Given the description of an element on the screen output the (x, y) to click on. 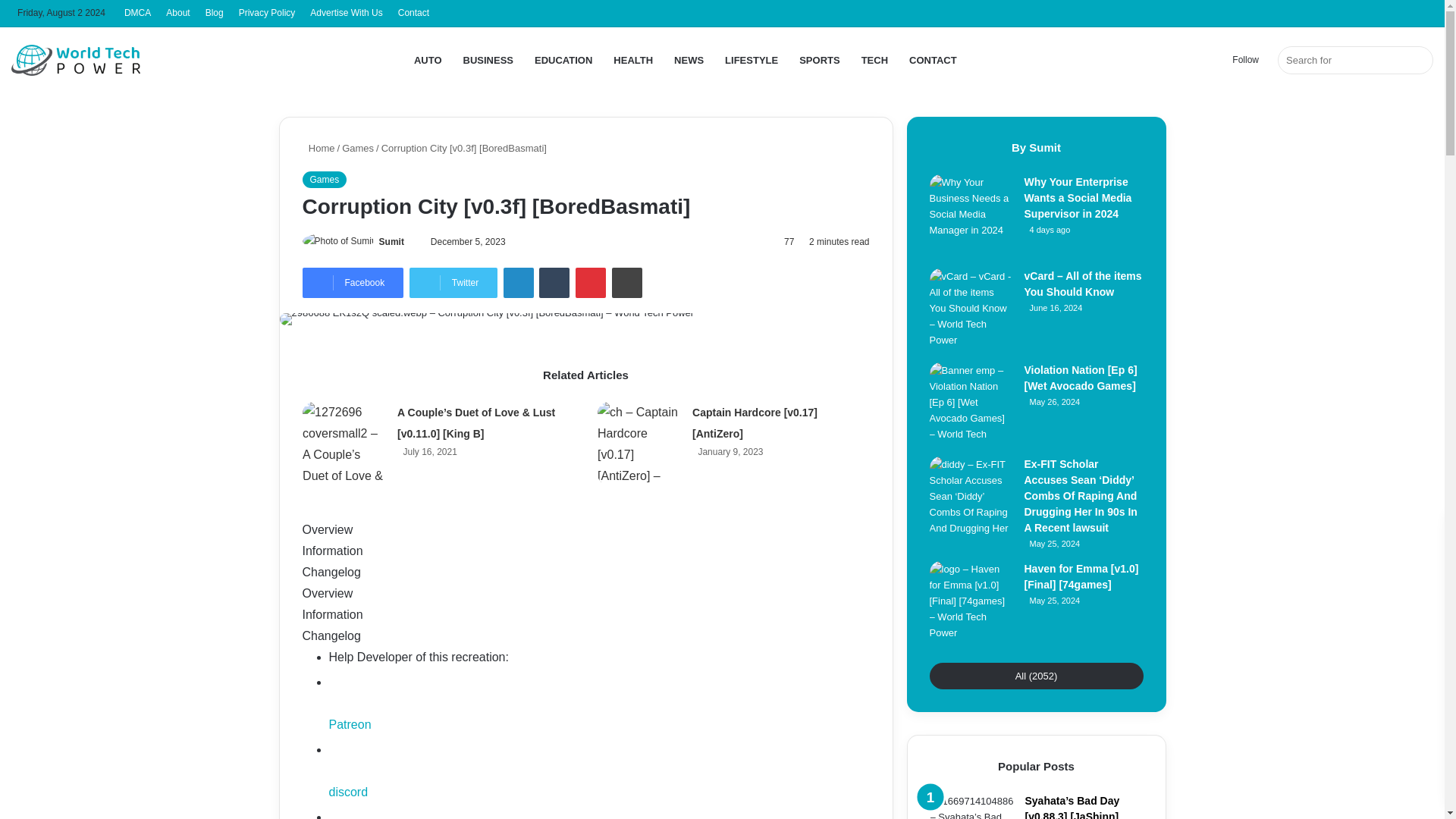
Contact (413, 13)
CONTACT (933, 60)
BUSINESS (488, 60)
LinkedIn (518, 282)
Home (317, 147)
Sumit (391, 241)
LinkedIn (518, 282)
Privacy Policy (266, 13)
EDUCATION (563, 60)
Games (323, 179)
